Given the description of an element on the screen output the (x, y) to click on. 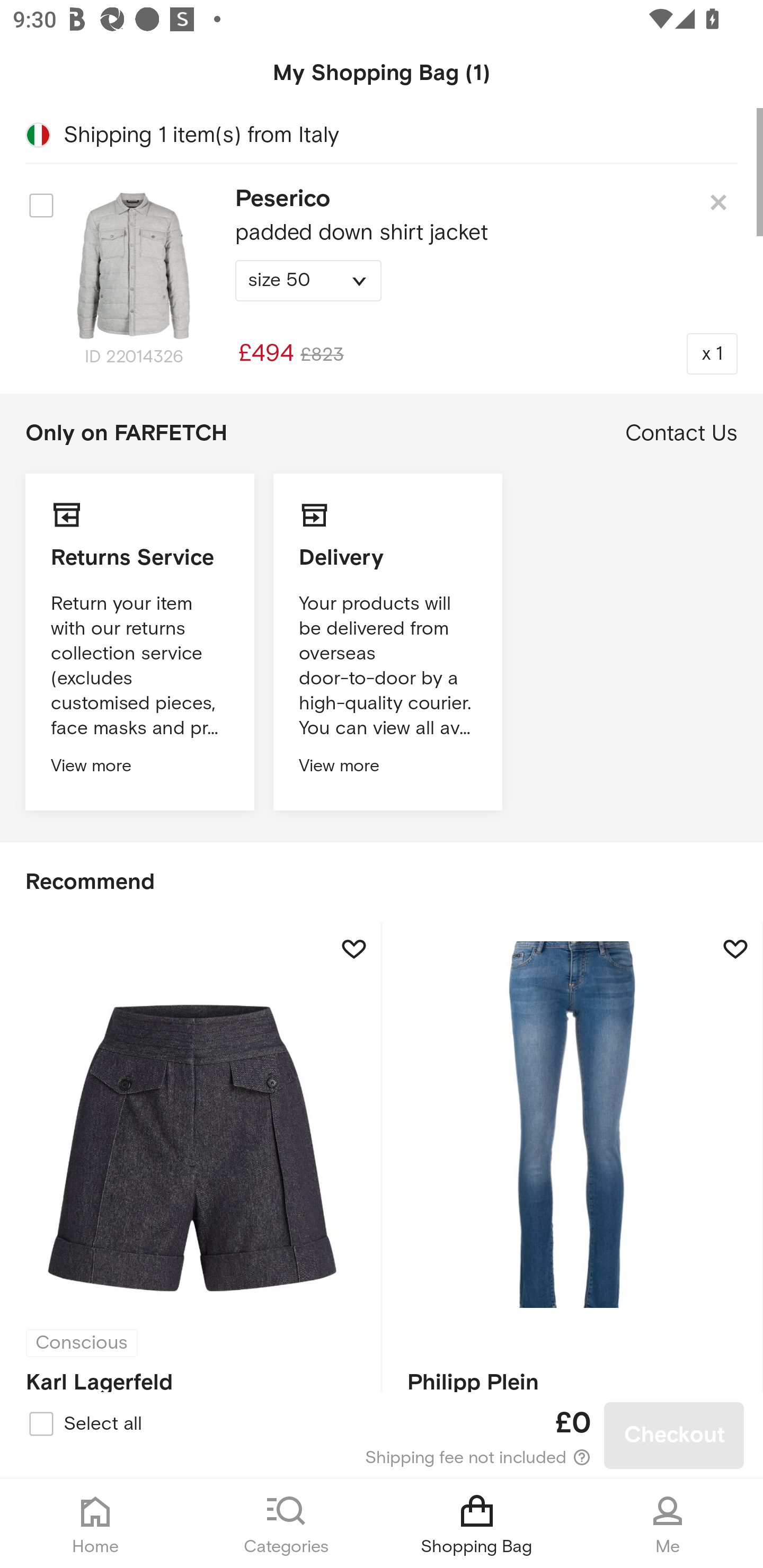
size 50 (308, 280)
x 1 (711, 353)
Contact Us (680, 433)
£0 Shipping fee not included (382, 1435)
Checkout (673, 1435)
Home (95, 1523)
Categories (285, 1523)
Me (667, 1523)
